Given the description of an element on the screen output the (x, y) to click on. 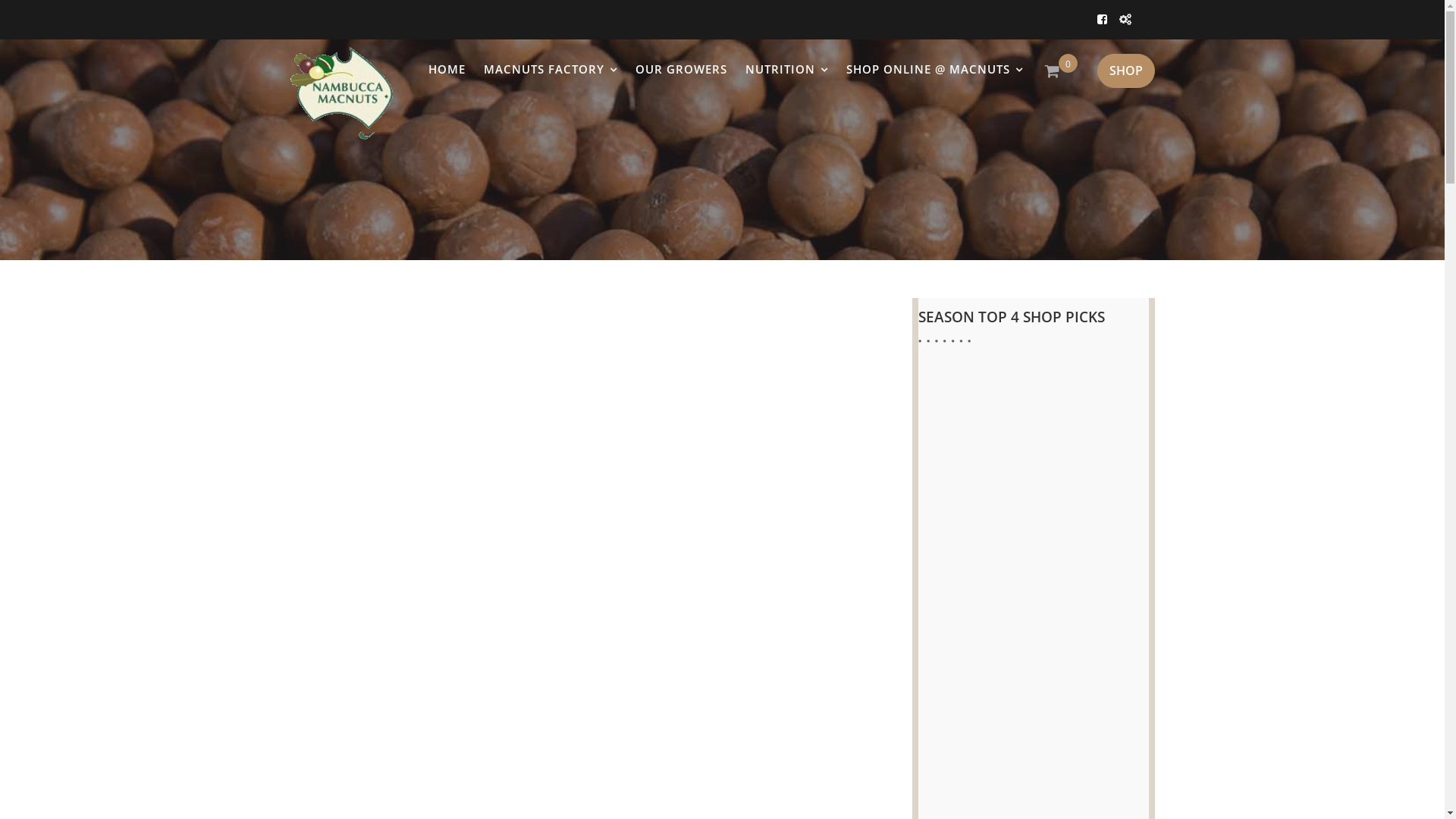
0 Element type: text (1069, 70)
MACNUTS FACTORY Element type: text (550, 69)
OUR GROWERS Element type: text (680, 68)
SHOP Element type: text (1125, 70)
SHOP ONLINE @ MACNUTS Element type: text (934, 69)
HOME Element type: text (446, 68)
NUTRITION Element type: text (785, 69)
